Given the description of an element on the screen output the (x, y) to click on. 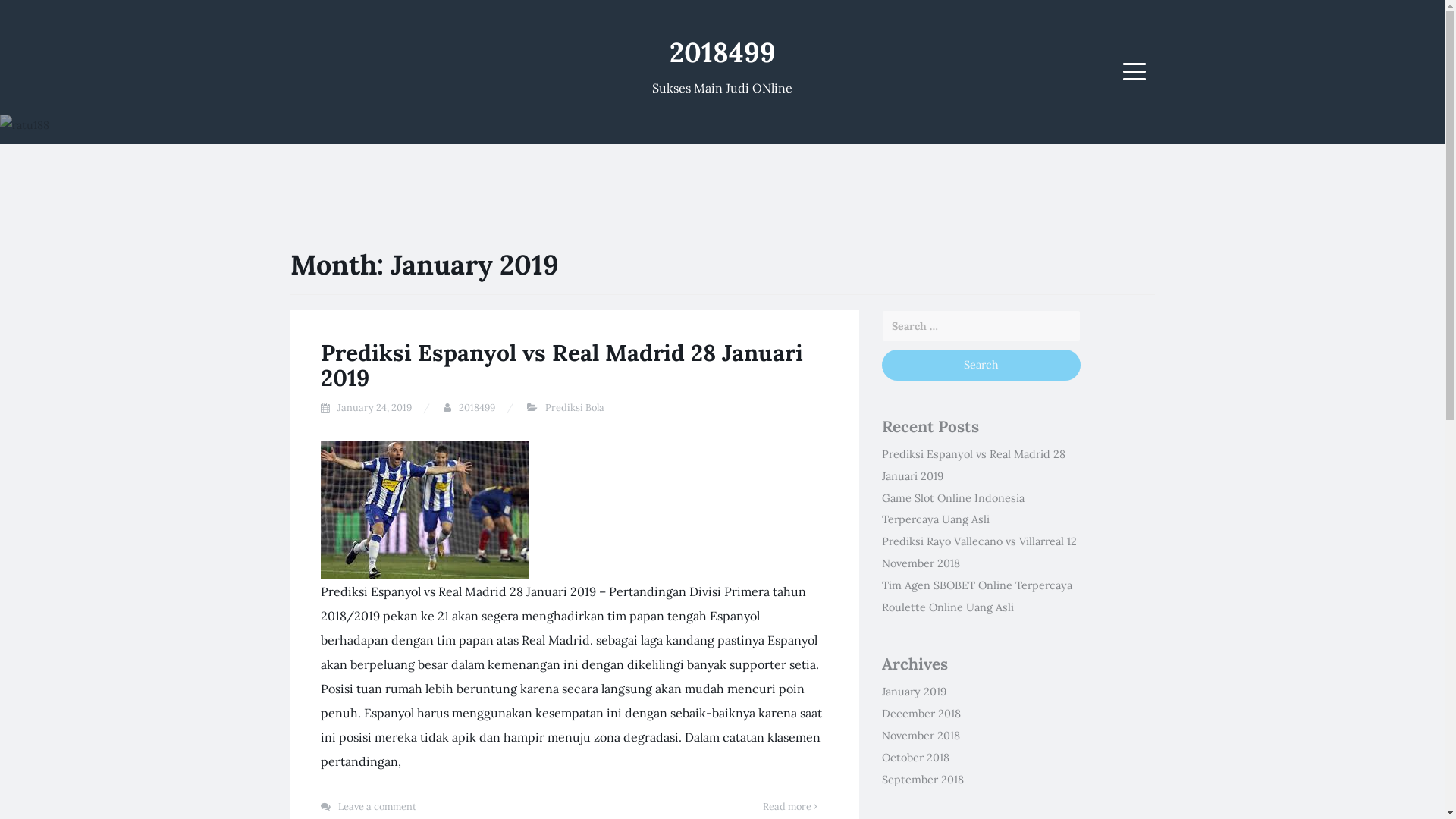
Prediksi Rayo Vallecano vs Villarreal 12 November 2018 Element type: text (978, 552)
Leave a comment Element type: text (377, 806)
Tim Agen SBOBET Online Terpercaya Element type: text (976, 585)
October 2018 Element type: text (914, 757)
January 2019 Element type: text (913, 691)
September 2018 Element type: text (922, 778)
Search Element type: text (980, 364)
January 24, 2019 Element type: text (373, 407)
Game Slot Online Indonesia Terpercaya Uang Asli Element type: text (952, 509)
November 2018 Element type: text (920, 735)
Prediksi Espanyol vs Real Madrid 28 Januari 2019 Element type: text (972, 465)
December 2018 Element type: text (920, 713)
2018499 Element type: text (721, 51)
Menu Element type: text (1133, 71)
Prediksi Espanyol vs Real Madrid 28 Januari 2019 Element type: text (561, 365)
2018499 Element type: text (476, 407)
Roulette Online Uang Asli Element type: text (947, 607)
Prediksi Bola Element type: text (573, 407)
